Given the description of an element on the screen output the (x, y) to click on. 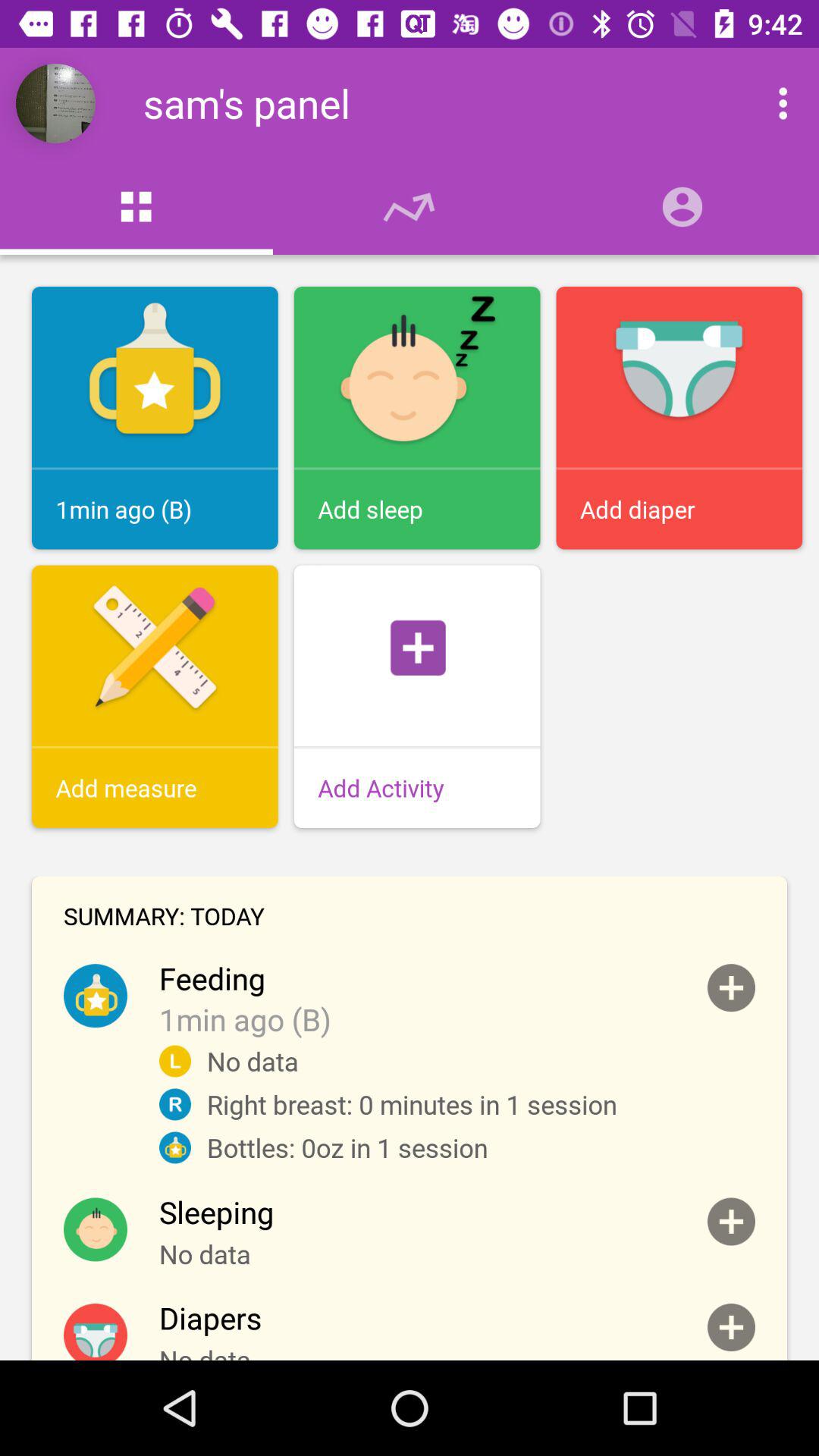
addih button (731, 1221)
